Given the description of an element on the screen output the (x, y) to click on. 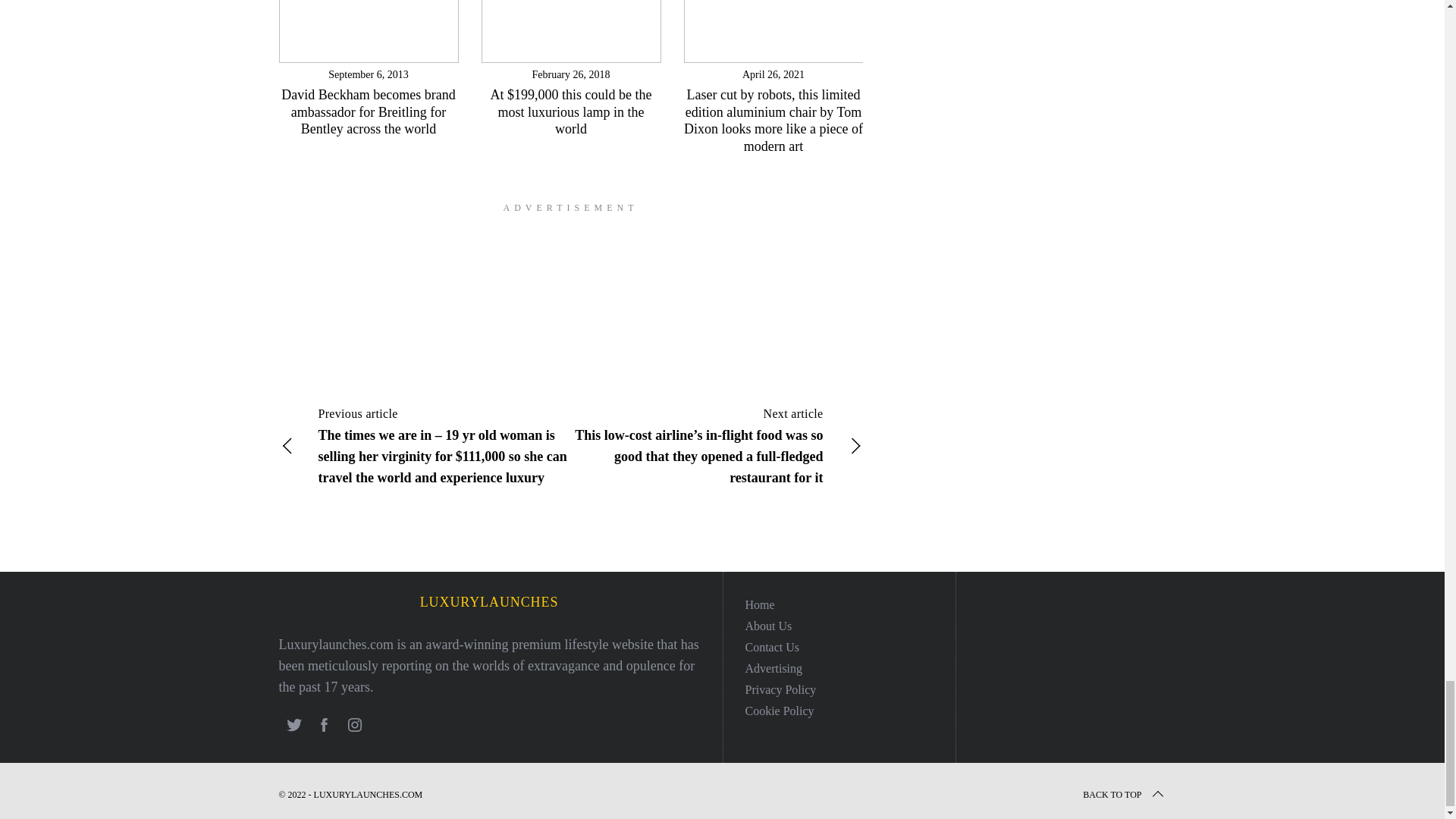
Cookie Policy (778, 710)
Advertising (773, 667)
Privacy Policy (779, 689)
Home (759, 604)
Contact us (771, 646)
About Us (768, 625)
